Given the description of an element on the screen output the (x, y) to click on. 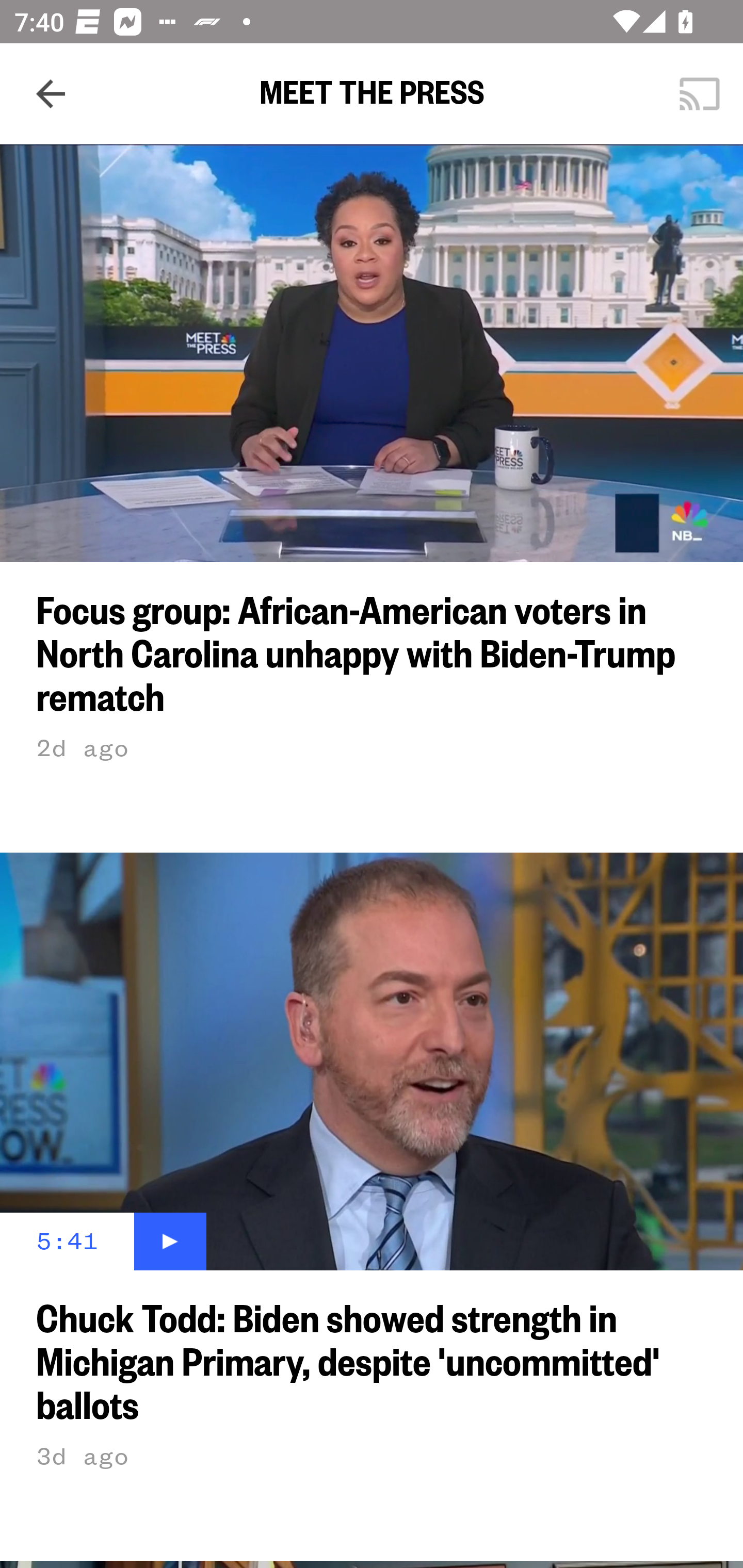
Navigate up (50, 93)
Cast. Disconnected (699, 93)
